Given the description of an element on the screen output the (x, y) to click on. 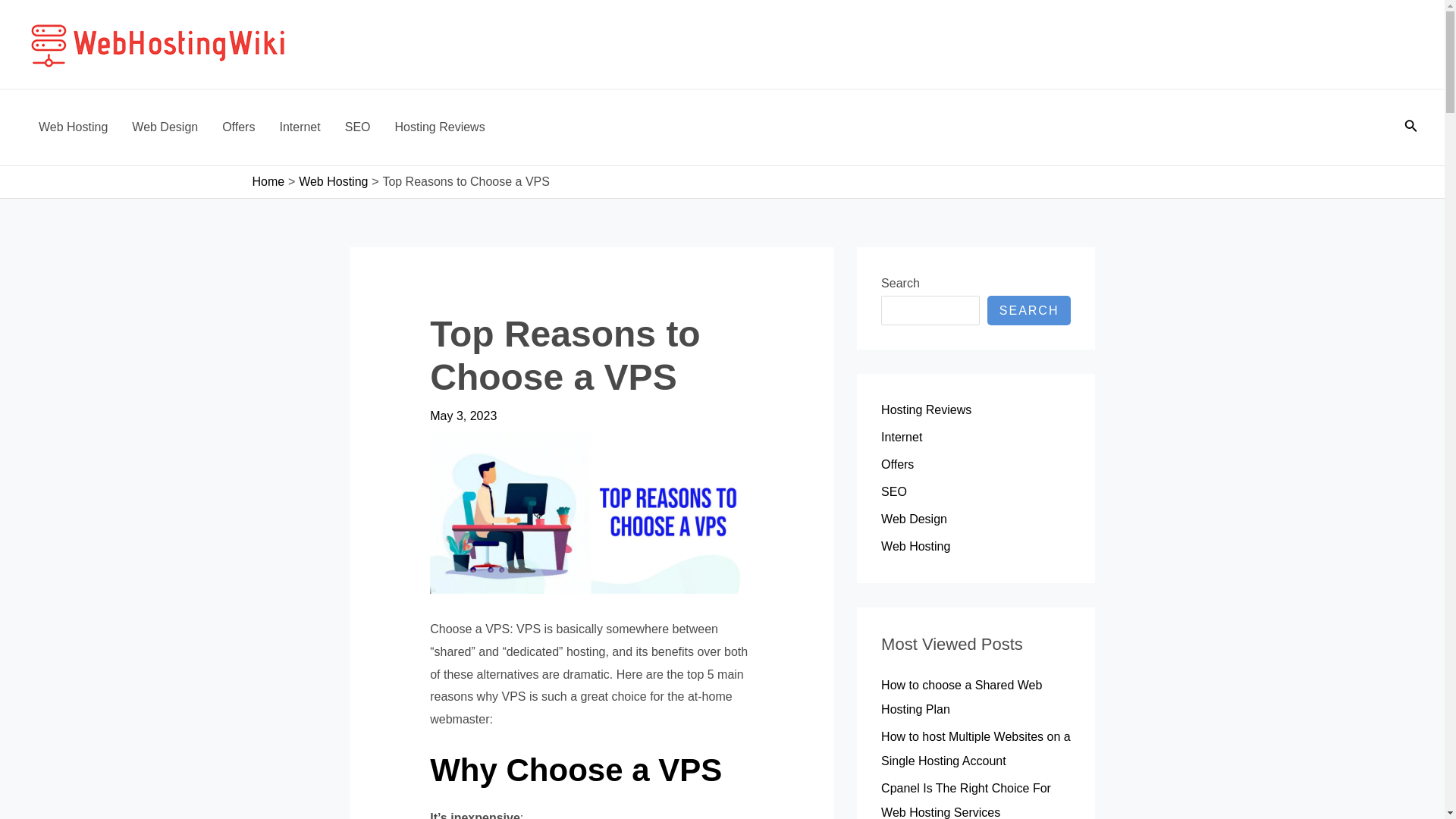
Internet (900, 436)
Home (267, 181)
Web Hosting (72, 127)
SEO (893, 491)
Offers (897, 463)
SEARCH (1029, 309)
Web Design (913, 518)
Web Hosting (915, 545)
Web Hosting (333, 181)
Hosting Reviews (439, 127)
